Given the description of an element on the screen output the (x, y) to click on. 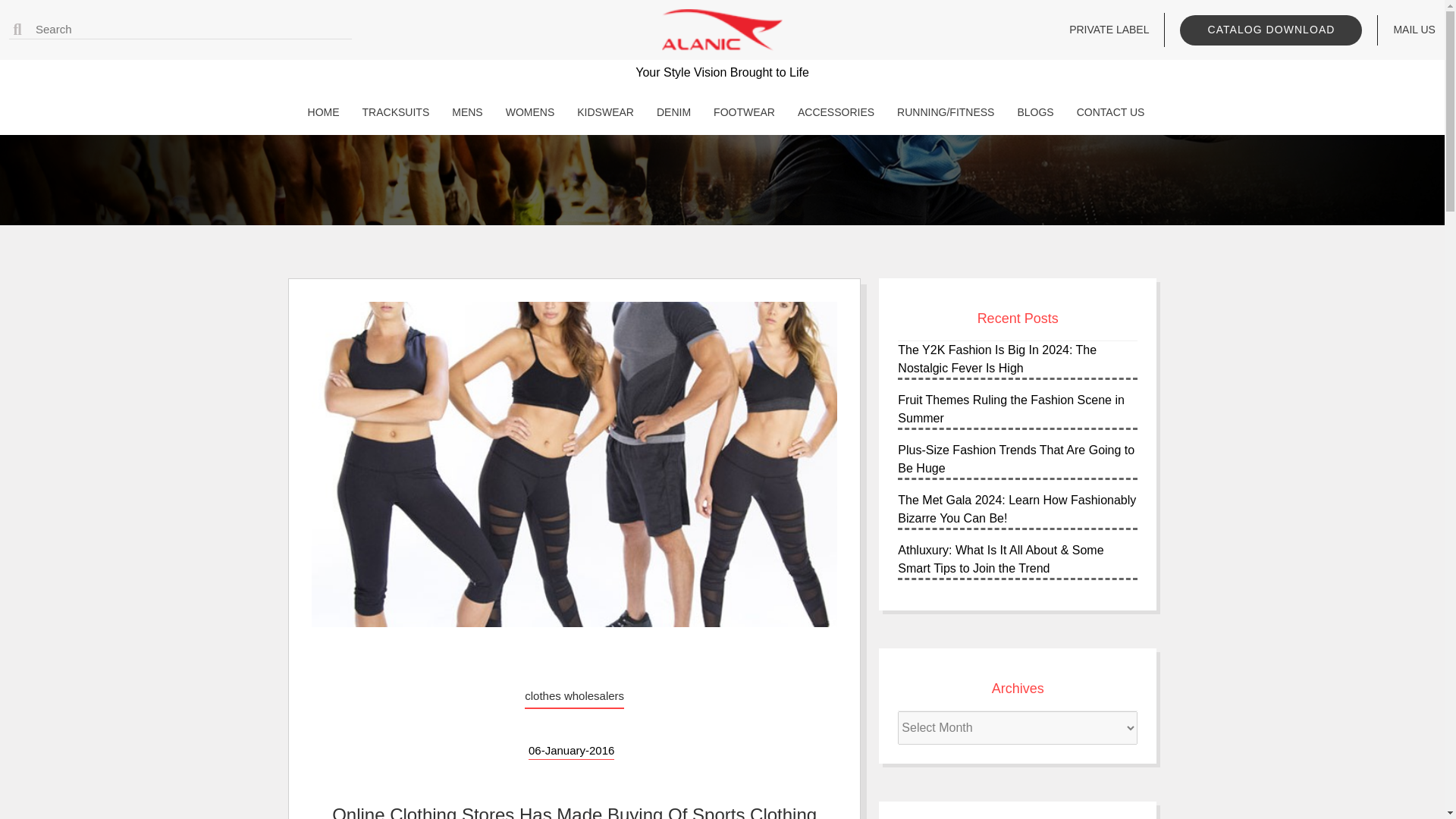
The Met Gala 2024: Learn How Fashionably Bizarre You Can Be! (1016, 508)
DENIM (669, 112)
The Y2K Fashion Is Big In 2024: The Nostalgic Fever Is High (997, 358)
PRIVATE LABEL (1108, 29)
Fruit Themes Ruling the Fashion Scene in Summer (1011, 409)
Tracksuits (392, 112)
ACCESSORIES (832, 112)
CATALOG DOWNLOAD (1270, 30)
BLOGS (1030, 112)
FOOTWEAR (740, 112)
MENS (462, 112)
MAIL US (1414, 29)
Blogs (1030, 112)
Womens (525, 112)
Your Style Vision Brought to Life (721, 92)
